Given the description of an element on the screen output the (x, y) to click on. 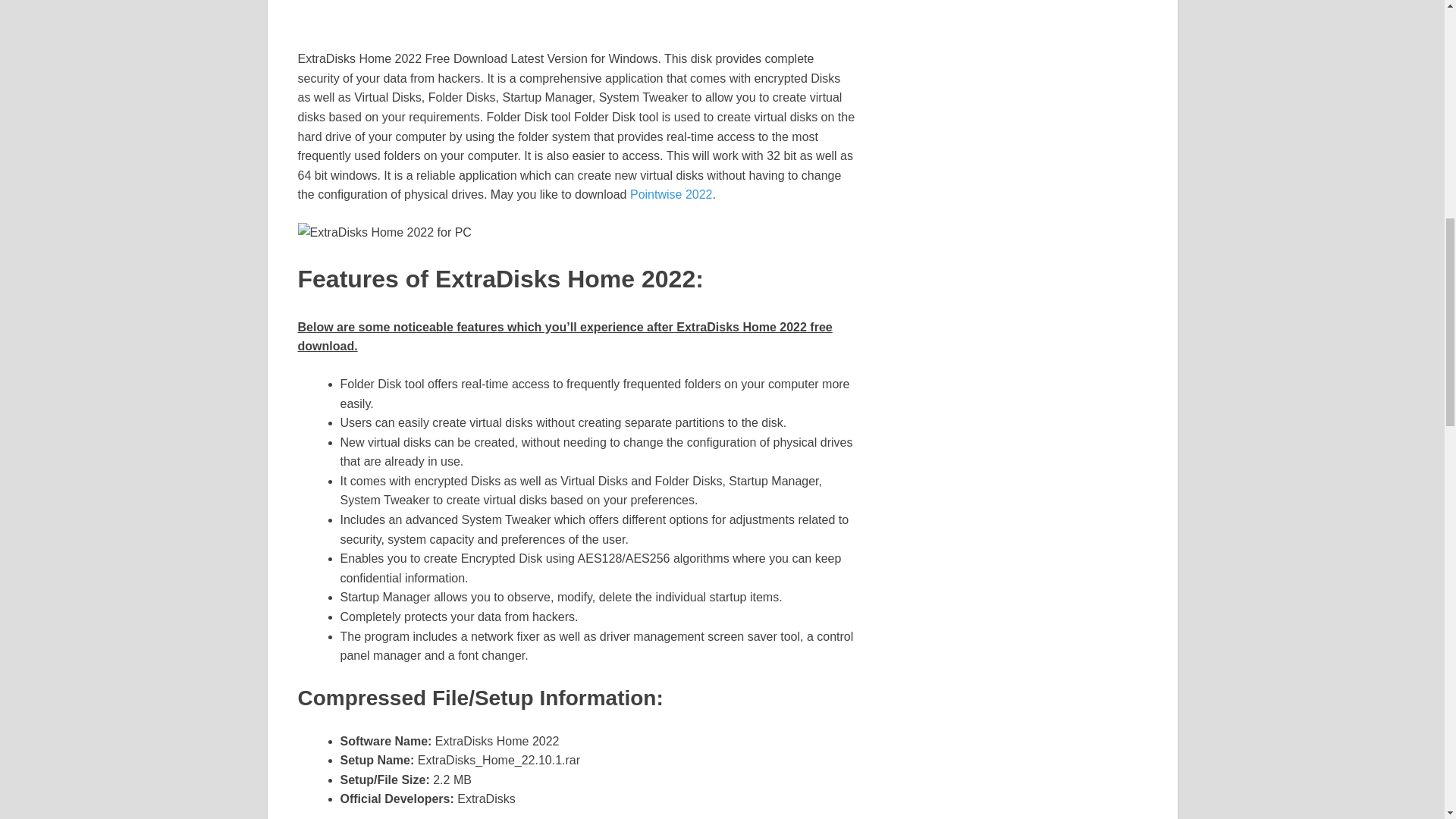
Pointwise 2022 (671, 194)
